Given the description of an element on the screen output the (x, y) to click on. 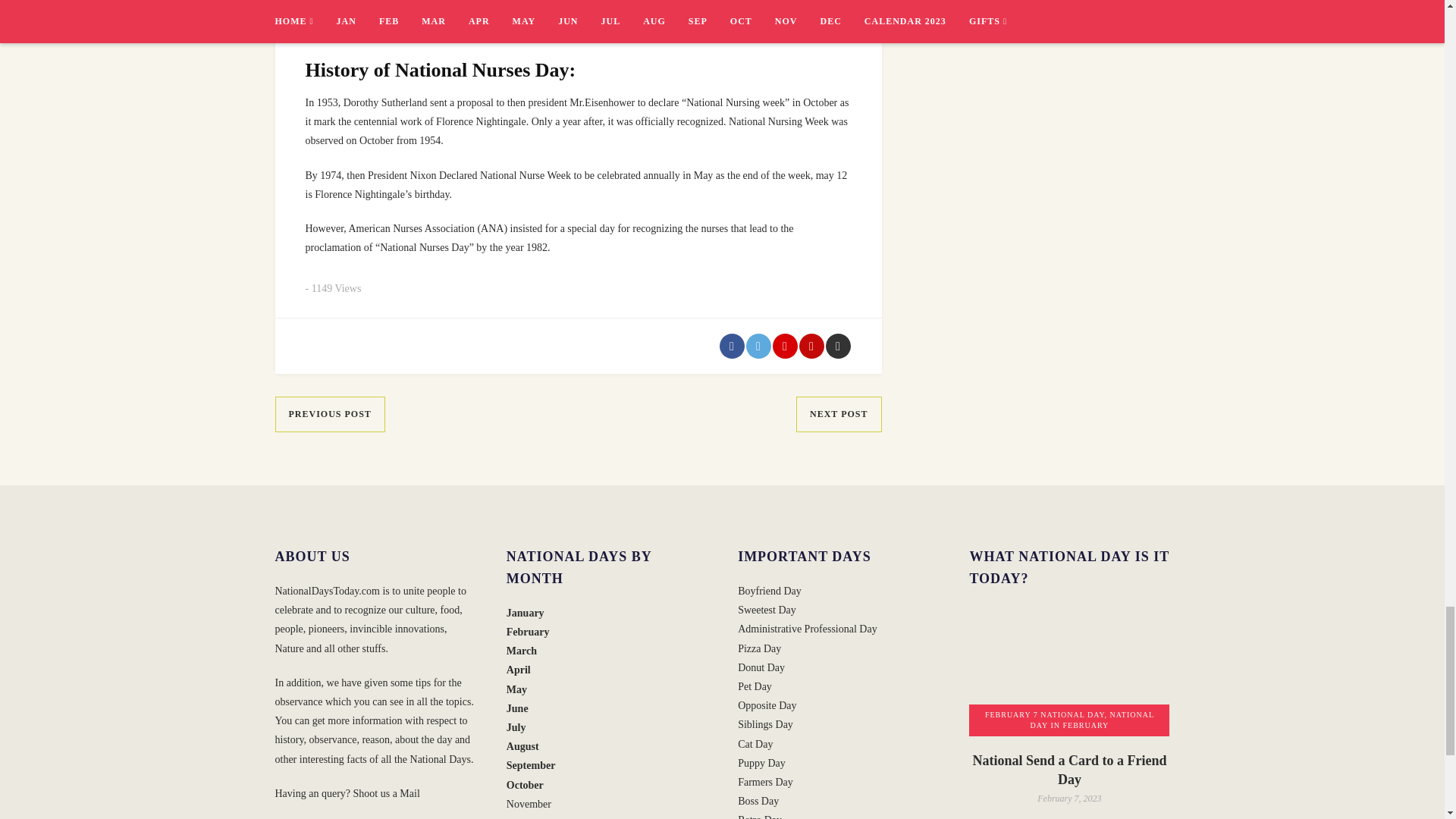
Mail (408, 793)
Permanent Link: National Send a Card to a Friend Day (1069, 770)
PREVIOUS POST (329, 414)
National Send a Card to a Friend Day (1069, 669)
NEXT POST (838, 414)
